Given the description of an element on the screen output the (x, y) to click on. 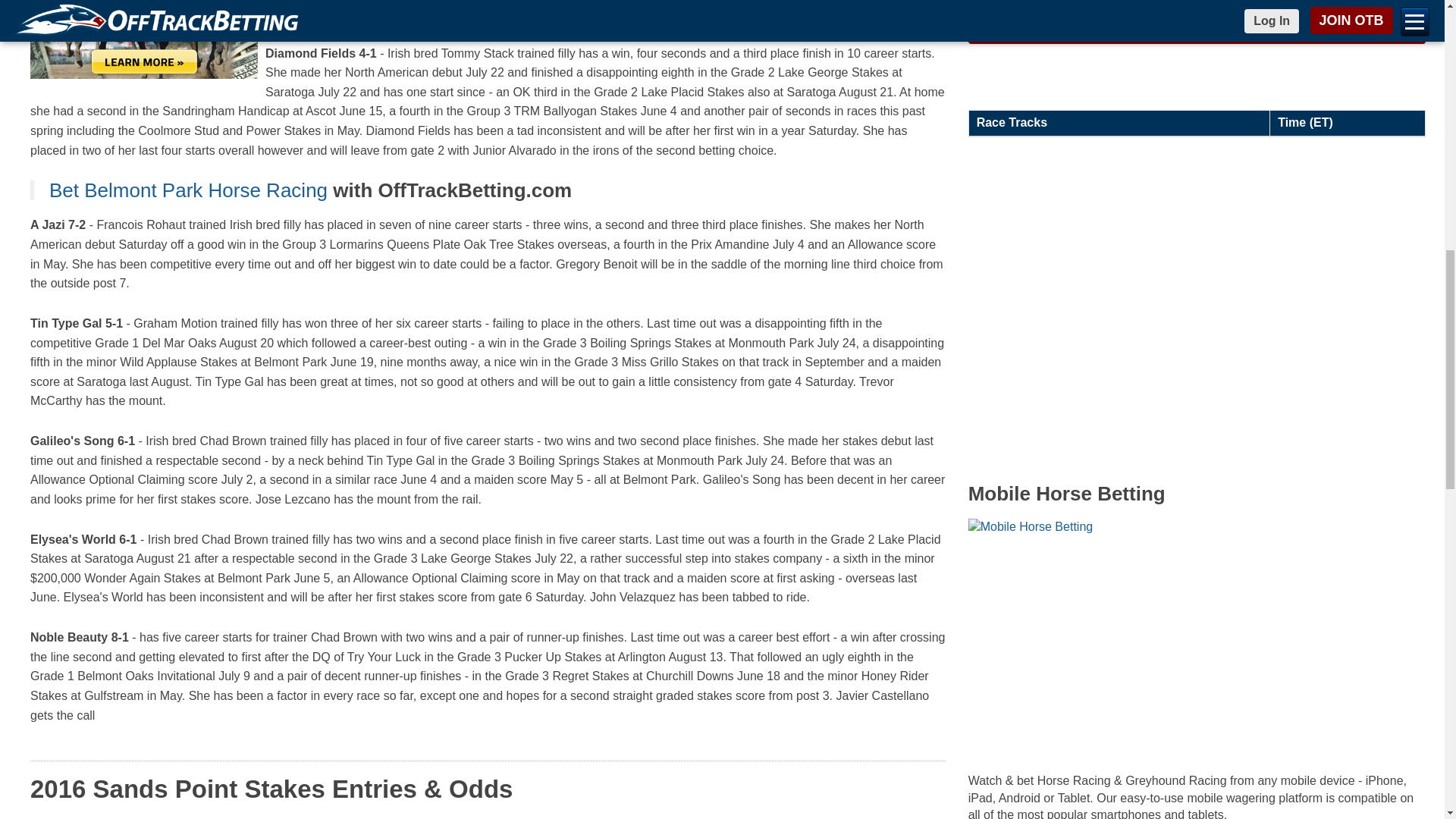
Horse Racing Rebates (143, 39)
Bet Belmont Park horse racing (188, 190)
